Given the description of an element on the screen output the (x, y) to click on. 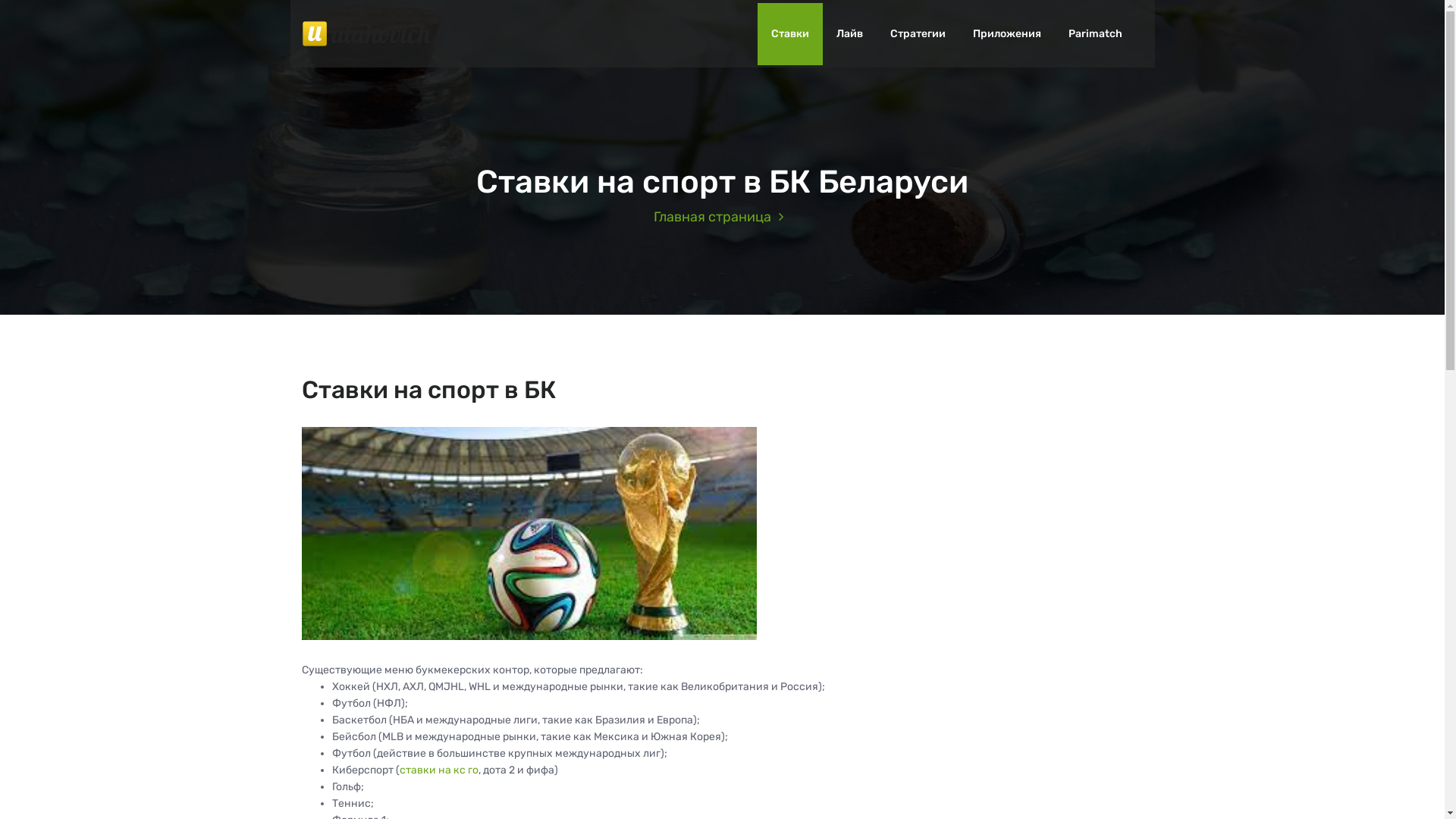
Parimatch Element type: text (1094, 34)
